Given the description of an element on the screen output the (x, y) to click on. 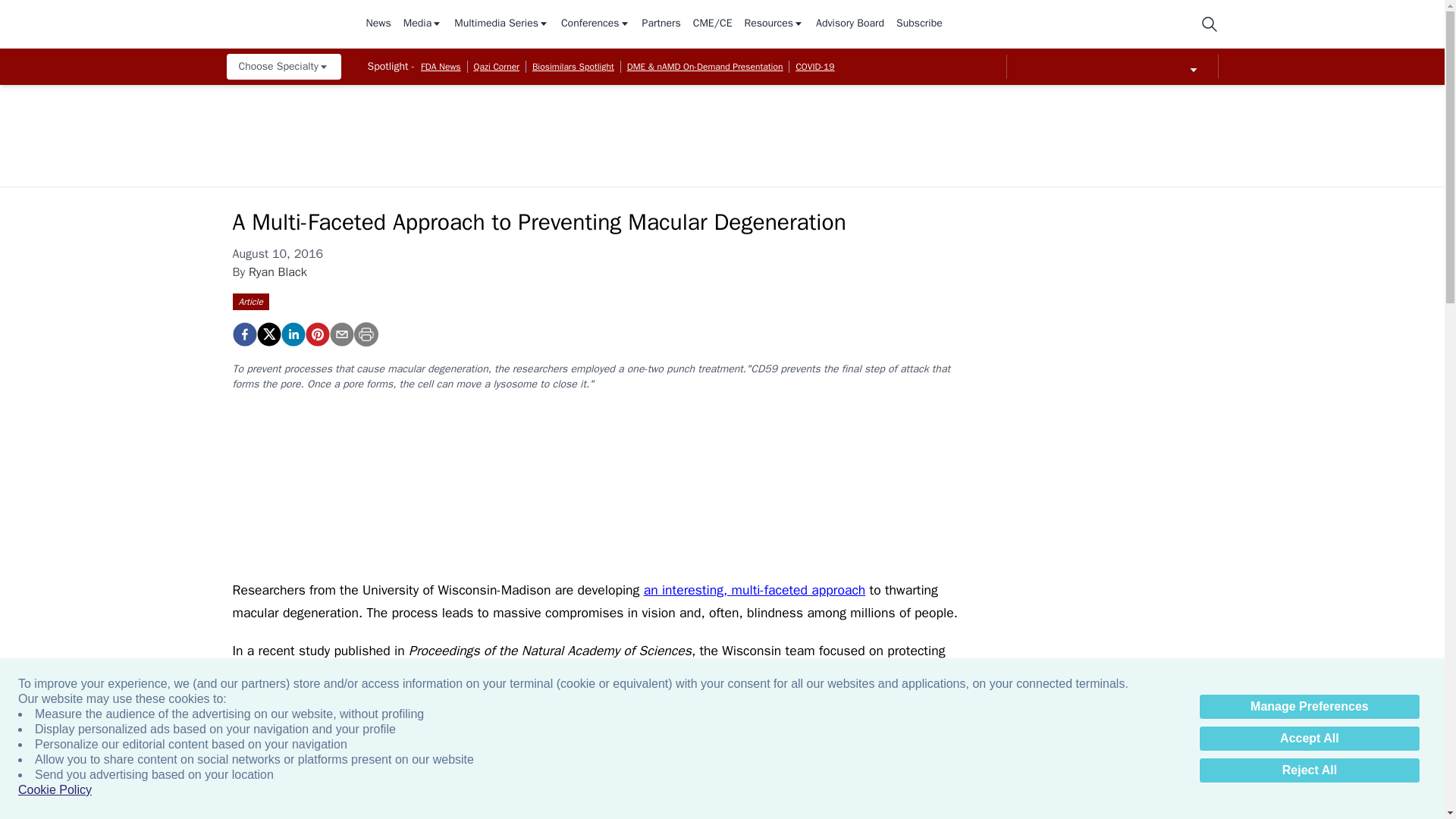
Conferences (595, 23)
Advisory Board (849, 23)
Accept All (1309, 738)
Cookie Policy (54, 789)
News (377, 23)
Multimedia Series (501, 23)
Resources (773, 23)
Choose Specialty (282, 66)
Partners (661, 23)
Manage Preferences (1309, 706)
Subscribe (919, 23)
A Multi-Faceted Approach to Preventing Macular Degeneration (316, 334)
A Multi-Faceted Approach to Preventing Macular Degeneration (243, 334)
Reject All (1309, 769)
